Given the description of an element on the screen output the (x, y) to click on. 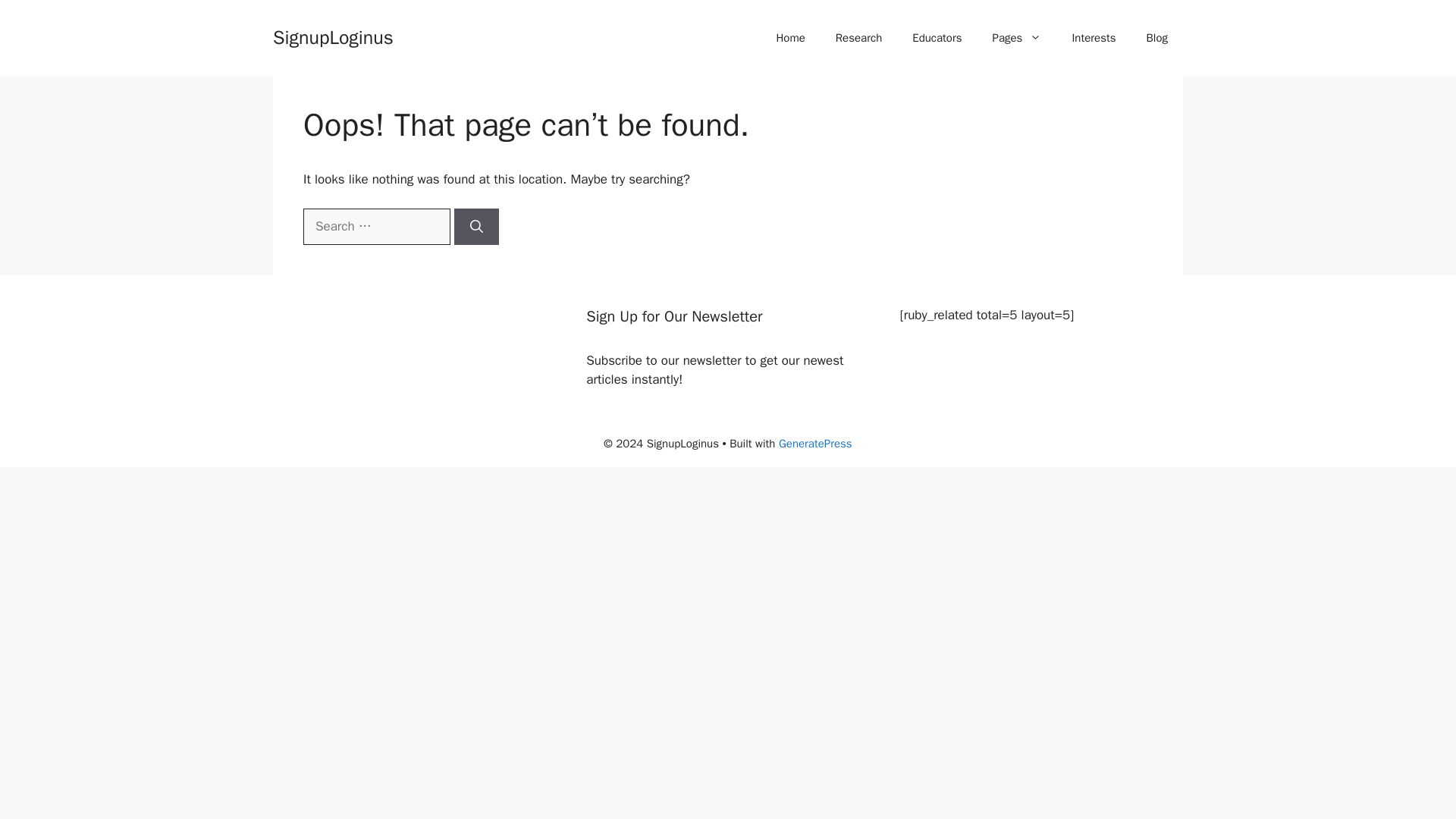
Research (858, 37)
Search for: (375, 226)
Interests (1094, 37)
Pages (1016, 37)
Educators (936, 37)
SignupLoginus (333, 37)
Blog (1156, 37)
Home (789, 37)
GeneratePress (814, 443)
